Given the description of an element on the screen output the (x, y) to click on. 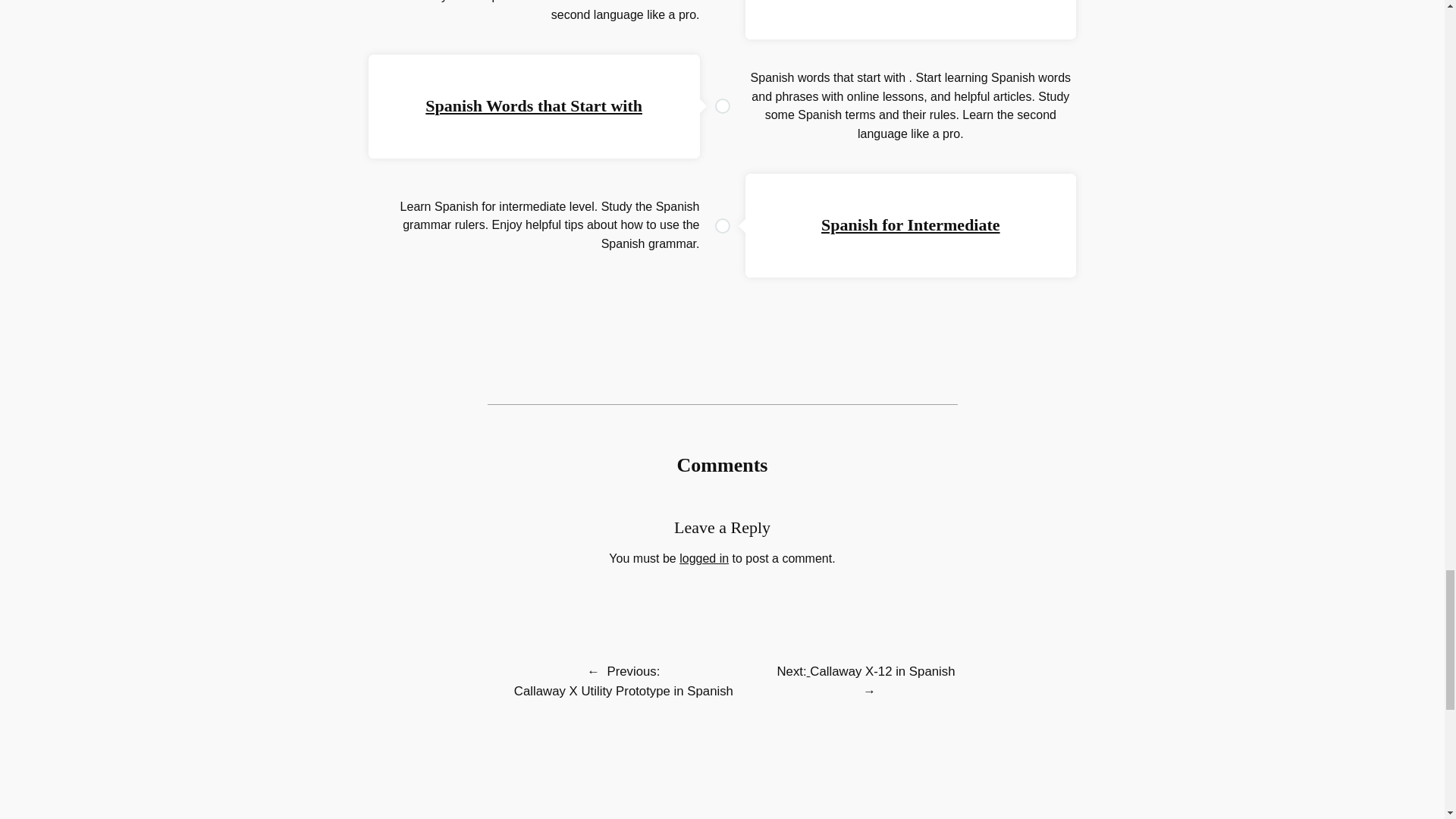
Spanish Words that Start with (533, 105)
logged in (704, 558)
Next: Callaway X-12 in Spanish (865, 671)
Previous: Callaway X Utility Prototype in Spanish (623, 681)
Spanish for Intermediate (910, 224)
